Given the description of an element on the screen output the (x, y) to click on. 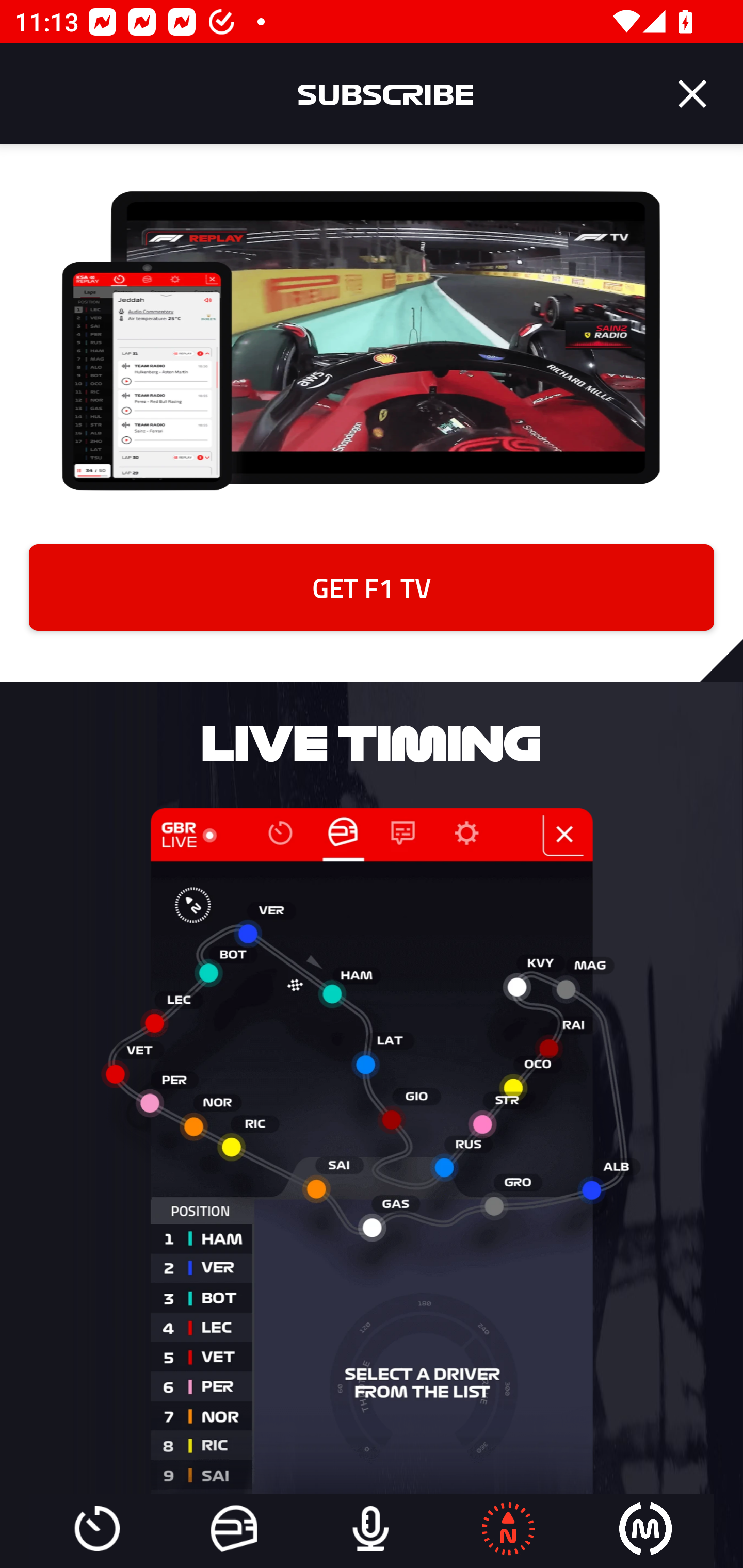
Close (692, 93)
GET F1 TV (371, 587)
